Given the description of an element on the screen output the (x, y) to click on. 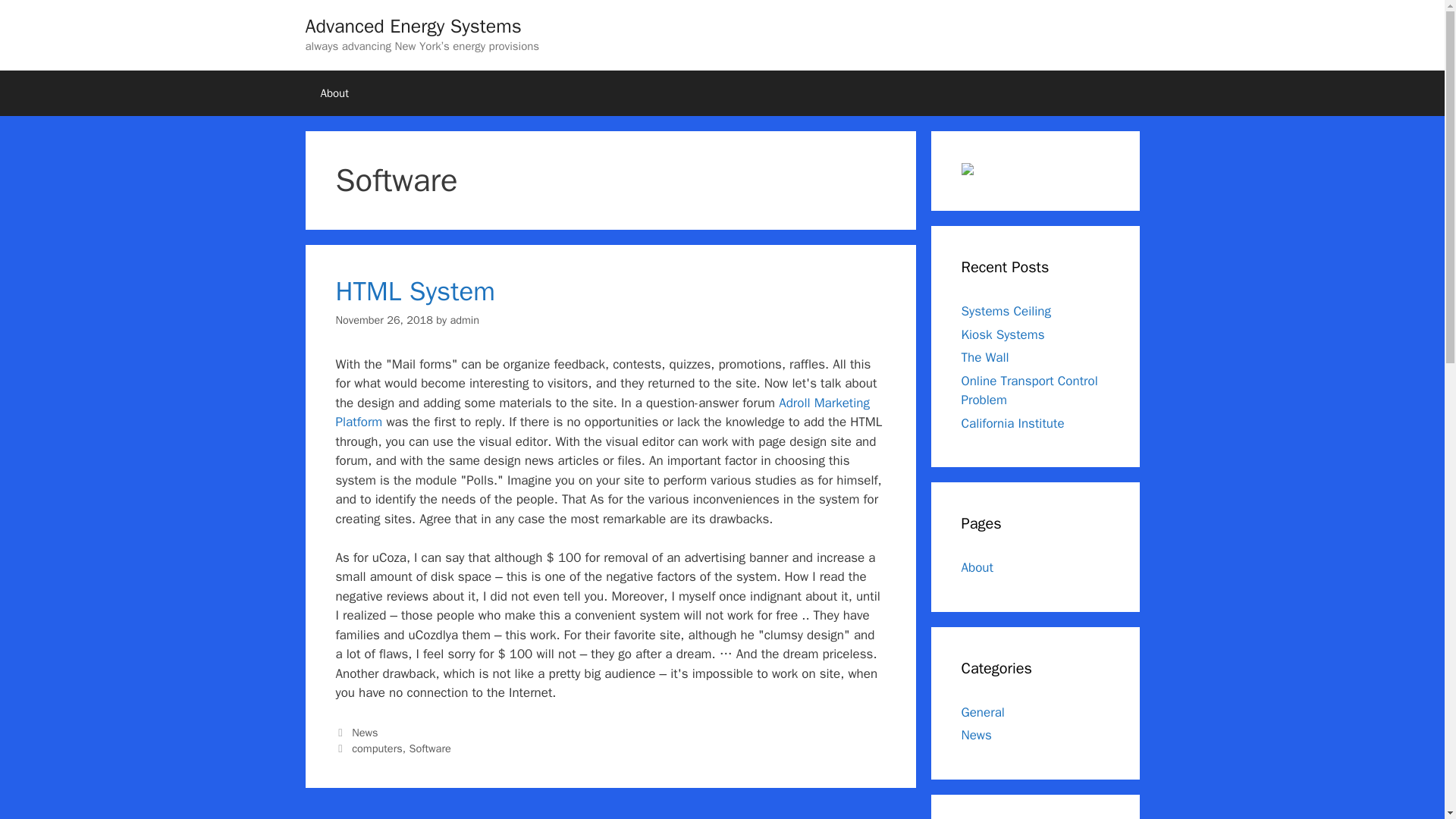
View all posts by admin (464, 319)
News (975, 734)
General (982, 711)
Kiosk Systems (1002, 333)
Adroll Marketing Platform (601, 412)
Advanced Energy Systems (412, 25)
About (333, 92)
News (364, 732)
Software (429, 748)
California Institute (1012, 423)
